Given the description of an element on the screen output the (x, y) to click on. 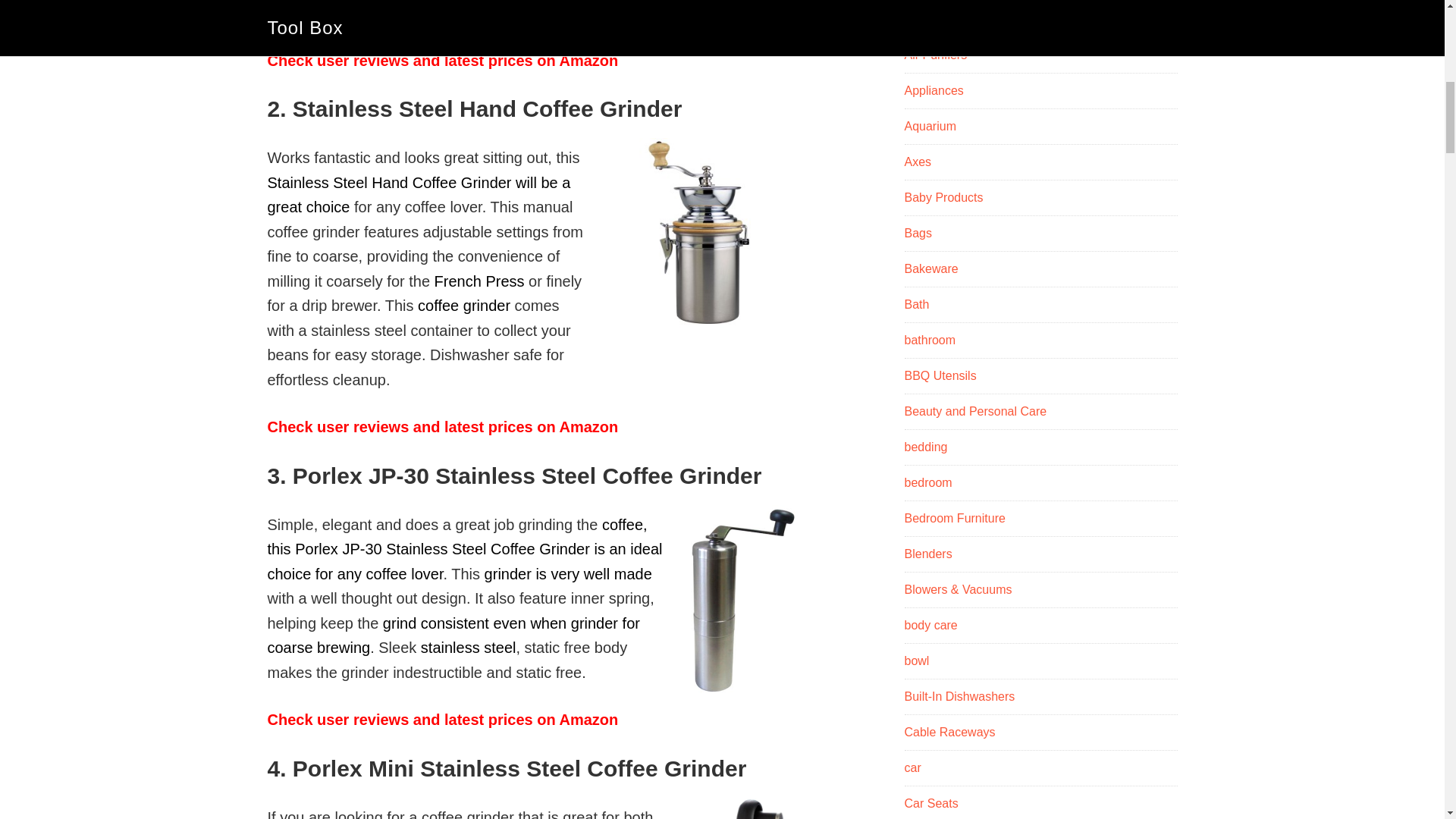
grinder is very well made (568, 573)
French Press (478, 280)
Check user reviews and latest prices on Amazon (441, 60)
stainless steel (468, 647)
Stainless Steel Hand Coffee Grinder will be a great choice (418, 195)
grind consistent even when grinder for coarse brewing (452, 635)
coffee grinder (464, 305)
Check user reviews and latest prices on Amazon (441, 426)
Check user reviews and latest prices on Amazon (441, 719)
